Given the description of an element on the screen output the (x, y) to click on. 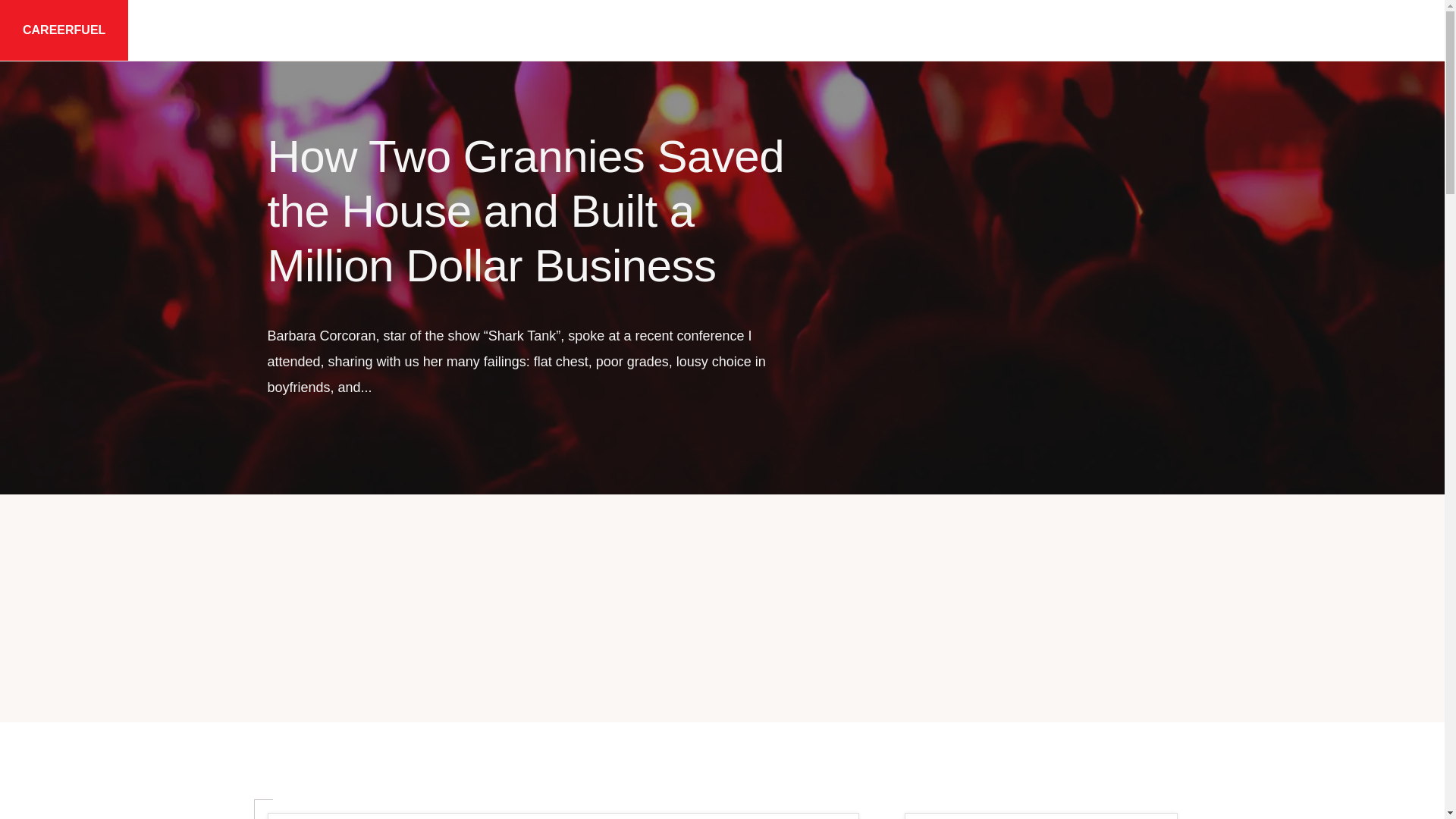
Find Work (666, 30)
Blog (1193, 30)
Start a Small Business (954, 30)
Connect (1350, 30)
Campus CareerFuel (793, 30)
News (1266, 30)
Crowdfunding (1098, 30)
CAREERFUEL (64, 30)
